Given the description of an element on the screen output the (x, y) to click on. 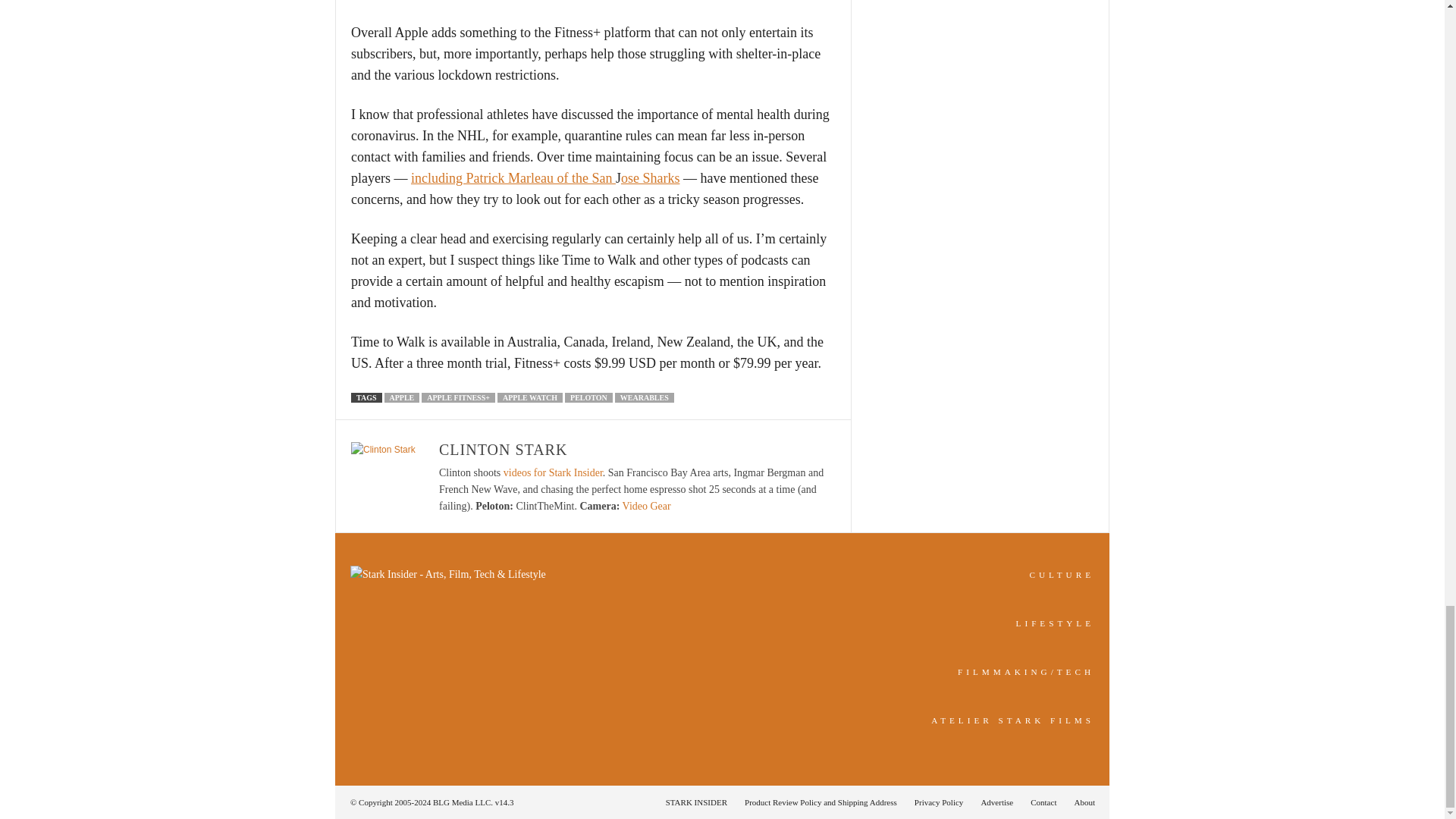
Advertise (996, 801)
WEARABLES (644, 397)
PELOTON (588, 397)
ose Sharks (650, 177)
Contact (1043, 801)
About (1079, 801)
Product Review Policy and Shipping Address (820, 801)
CLINTON STARK (503, 449)
APPLE WATCH (529, 397)
Video Gear (647, 505)
